Given the description of an element on the screen output the (x, y) to click on. 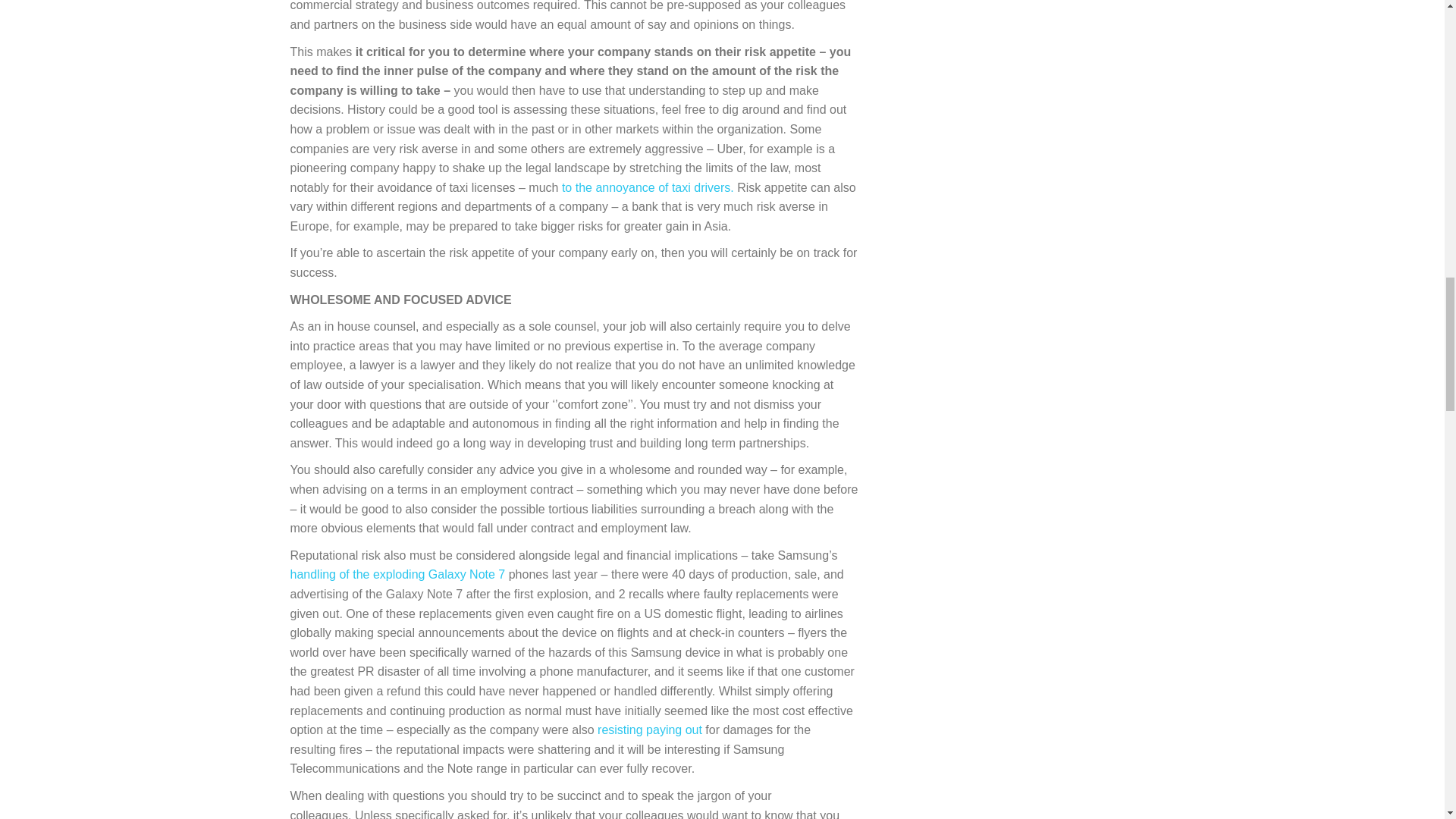
handling of the exploding Galaxy Note 7 (397, 574)
to the annoyance of taxi drivers. (647, 187)
resisting paying out (648, 729)
